Given the description of an element on the screen output the (x, y) to click on. 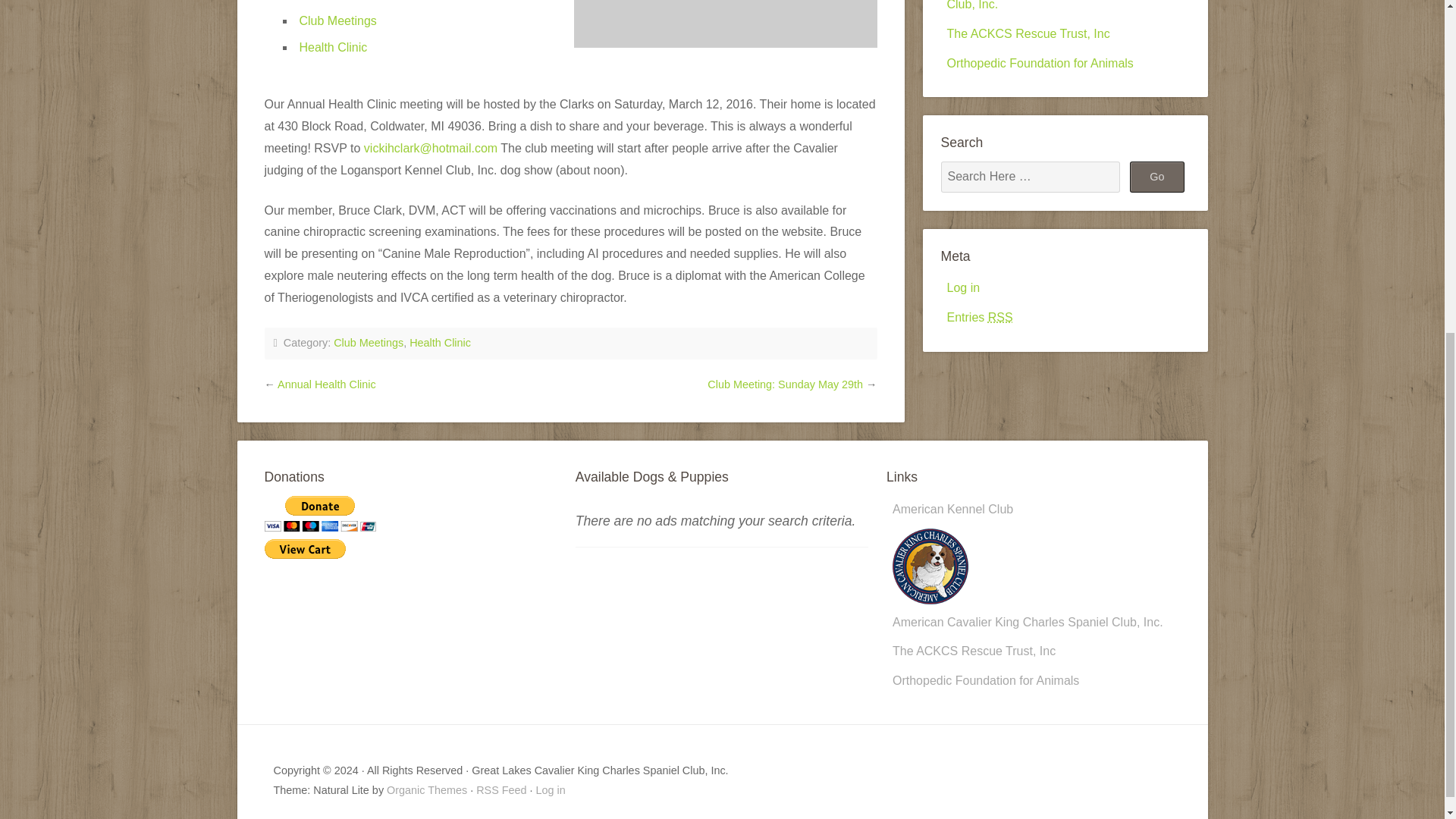
The ACKCS Rescue Trust, Inc (1027, 33)
Really Simple Syndication (1000, 317)
American Cavalier King Charles Spaniel Club, Inc. (1053, 5)
The ACKCS Rescue Trust, Inc (973, 650)
Orthopedic Foundation for Animals (985, 680)
Health Clinic (439, 342)
American Kennel Club (952, 508)
Organic Themes (427, 789)
Club Meeting: Sunday May 29th (785, 384)
Annual Health Clinic (326, 384)
Go (1157, 176)
Entries RSS (978, 317)
View all posts in Club Meetings (368, 342)
Orthopedic Foundation for Animals (1039, 62)
American Cavalier King Charles Spaniel Club, Inc. (1027, 610)
